Given the description of an element on the screen output the (x, y) to click on. 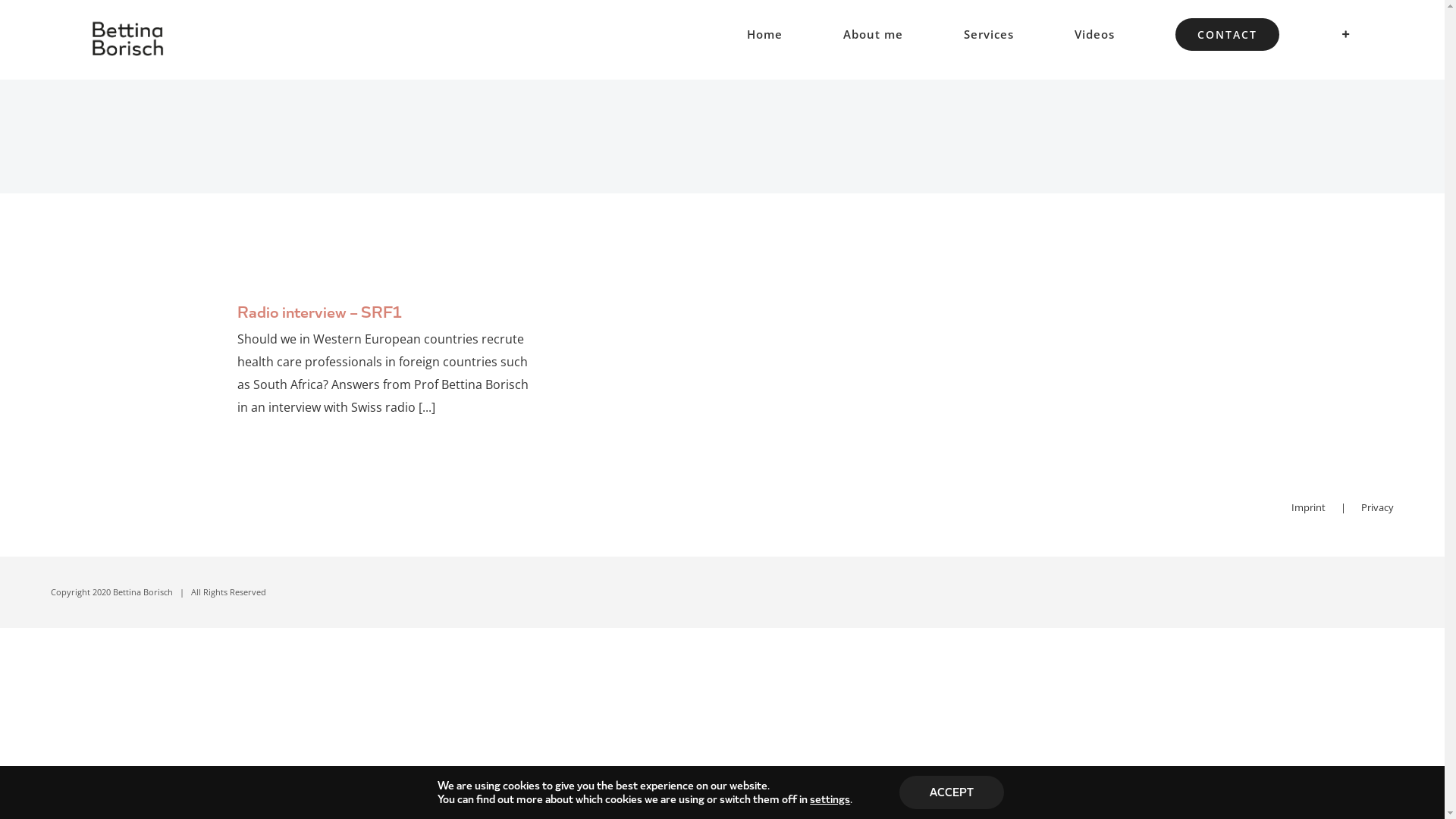
ACCEPT Element type: text (951, 792)
Imprint Element type: text (1326, 506)
Toggle Sliding Bar Element type: hover (1346, 33)
Home Element type: text (764, 33)
CONTACT Element type: text (1227, 33)
Services Element type: text (988, 33)
Videos Element type: text (1094, 33)
Privacy Element type: text (1377, 506)
About me Element type: text (873, 33)
